Given the description of an element on the screen output the (x, y) to click on. 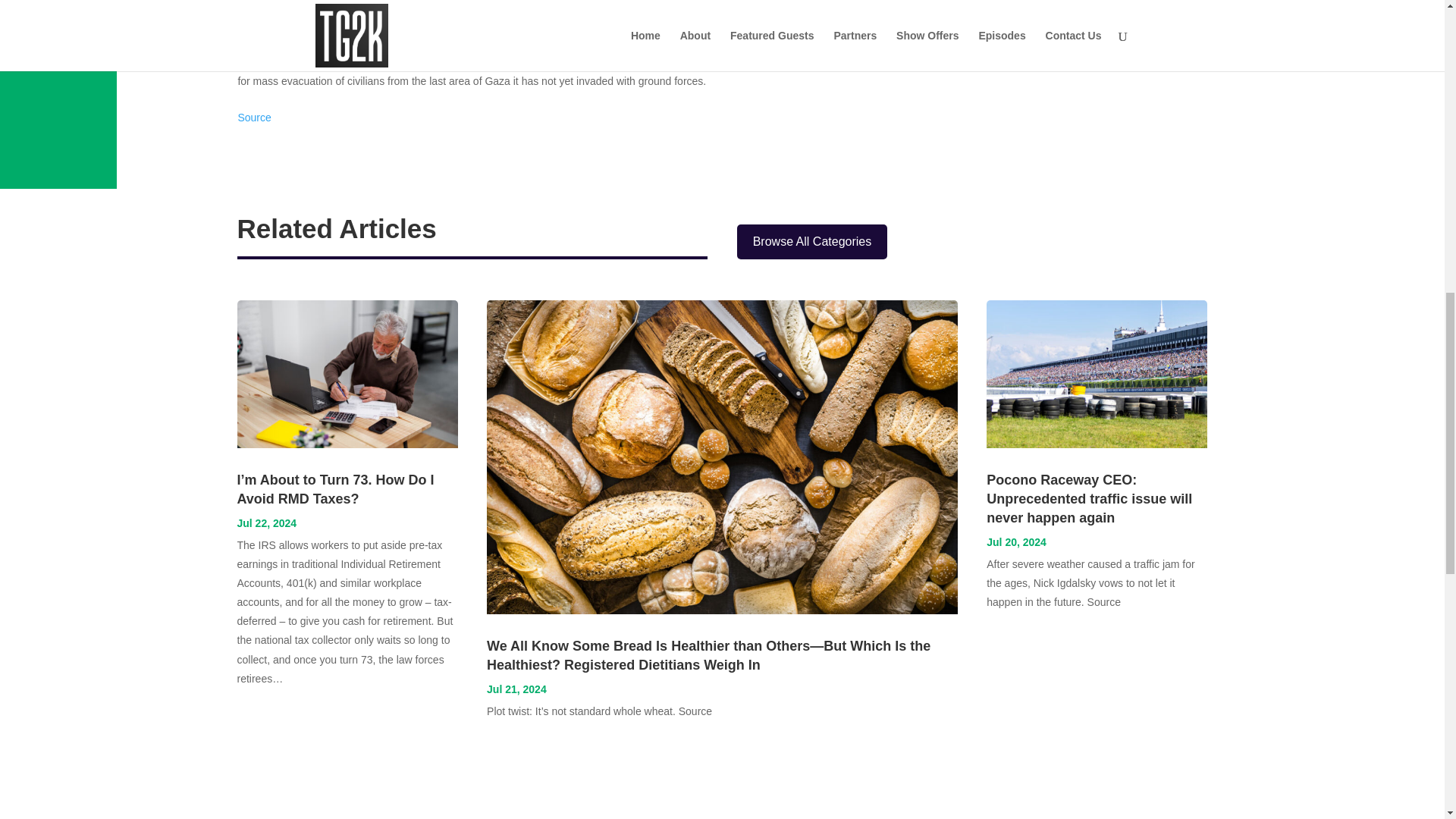
Browse All Categories (812, 242)
Source (253, 117)
